Given the description of an element on the screen output the (x, y) to click on. 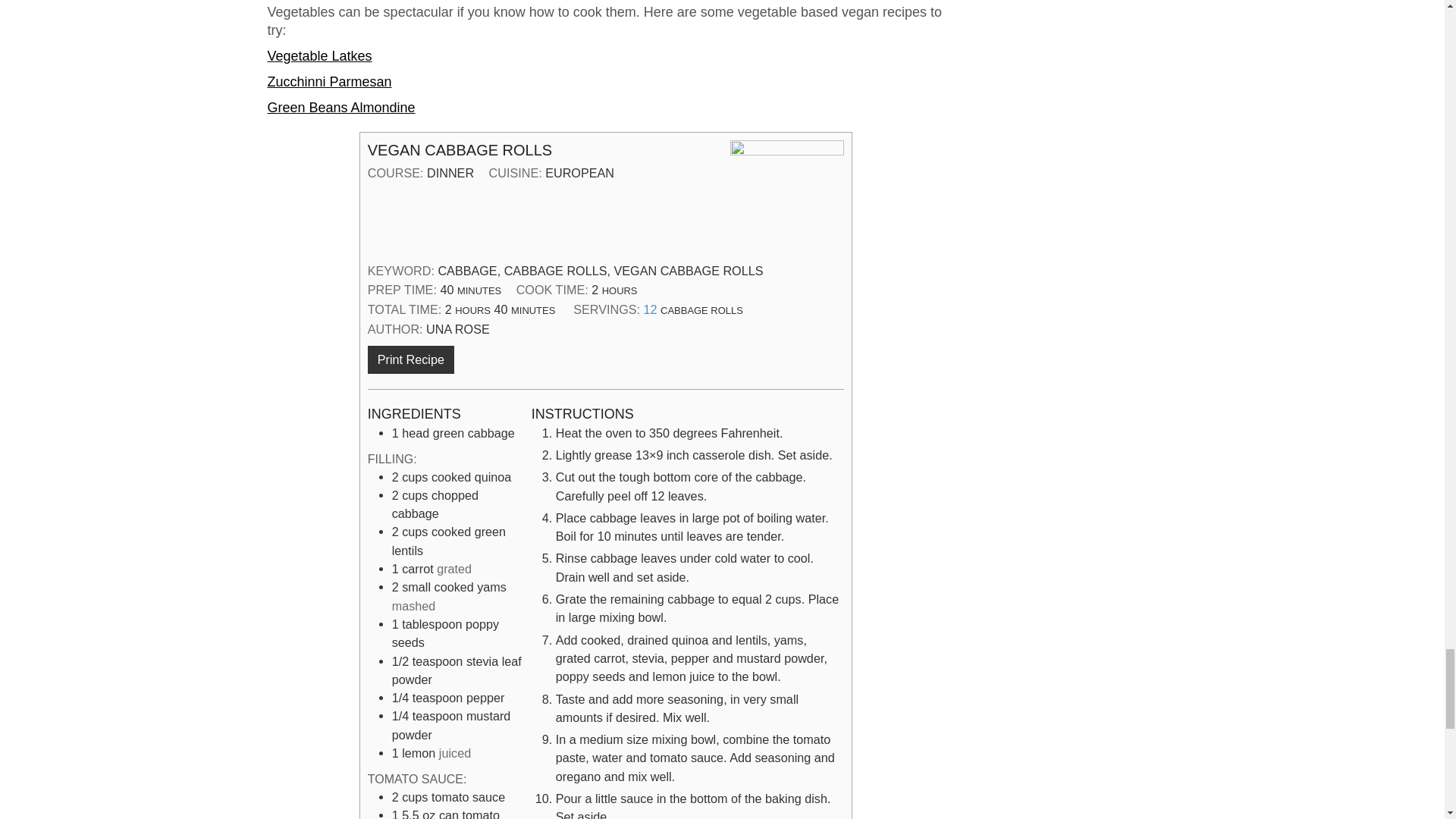
12 (650, 309)
Print Recipe (411, 359)
Vegetable Latkes (318, 55)
Green Beans Almondine (340, 107)
Zucchinni Parmesan (328, 81)
